Given the description of an element on the screen output the (x, y) to click on. 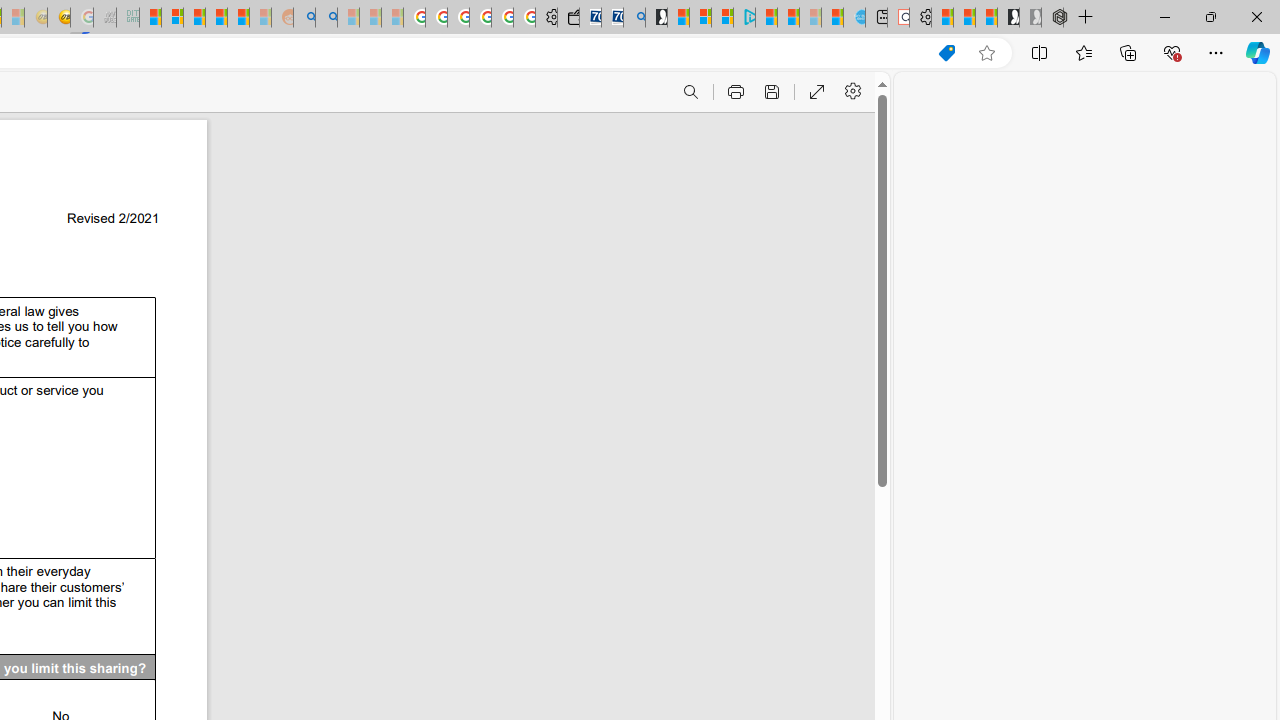
Bing Real Estate - Home sales and rental listings (634, 17)
Cheap Car Rentals - Save70.com (612, 17)
Play Free Online Games | Games from Microsoft Start (1008, 17)
Wallet (568, 17)
Navy Quest (104, 17)
